Given the description of an element on the screen output the (x, y) to click on. 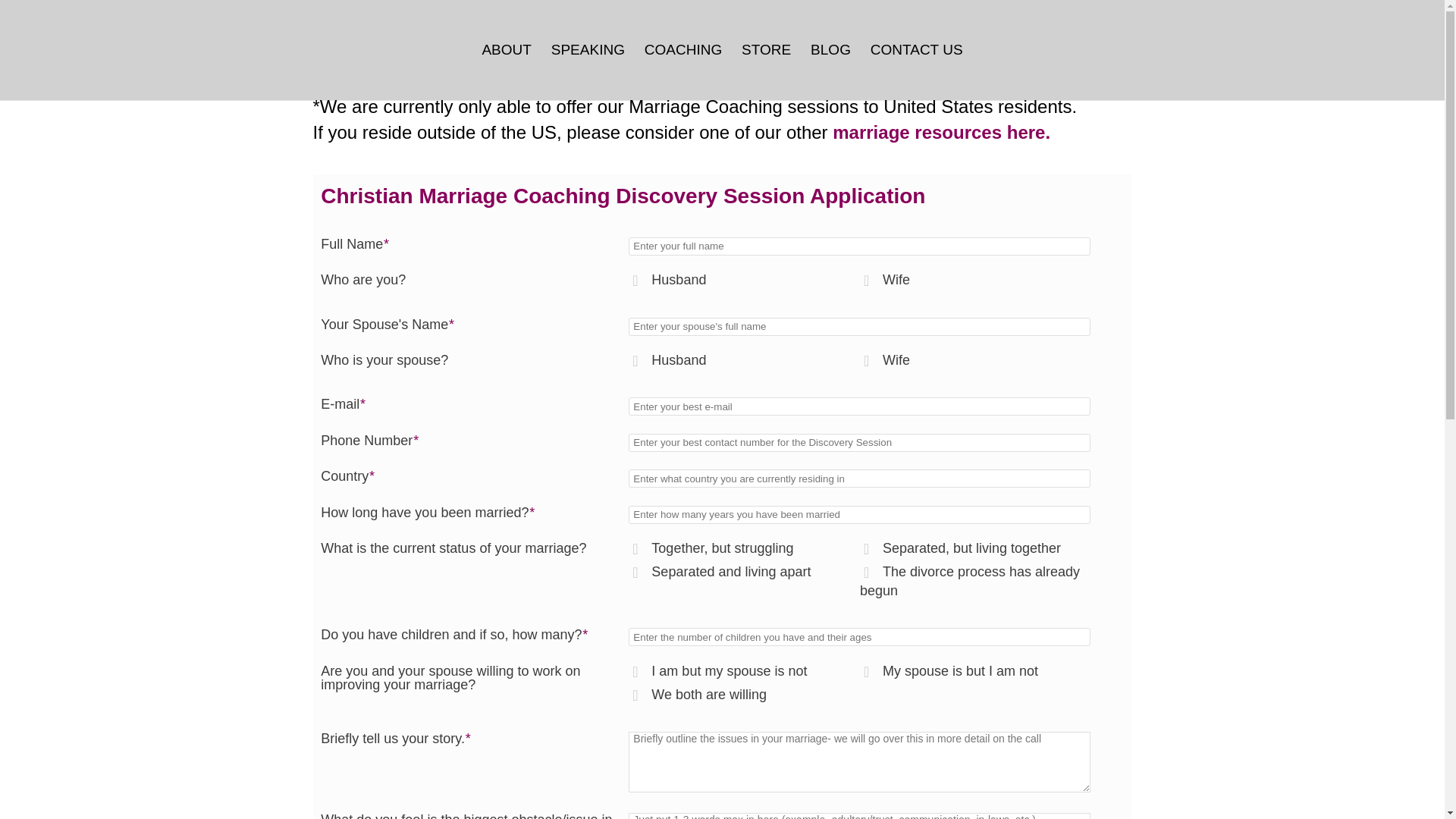
SPEAKING (587, 72)
CONTACT US (916, 72)
COACHING (683, 72)
STORE (765, 72)
marriage resources here. (940, 132)
ABOUT (506, 72)
